Given the description of an element on the screen output the (x, y) to click on. 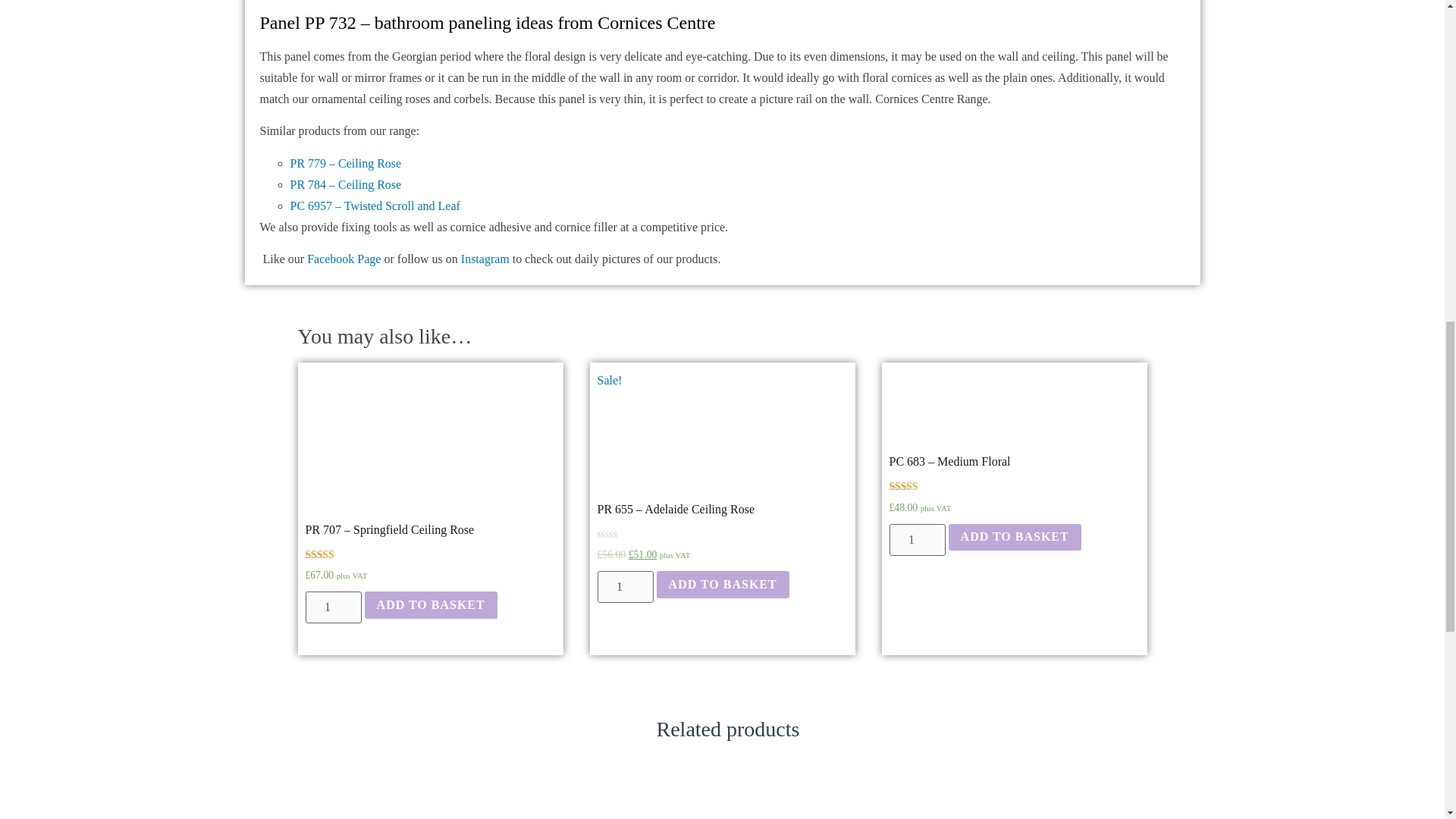
1 (332, 607)
1 (624, 586)
1 (916, 540)
